Given the description of an element on the screen output the (x, y) to click on. 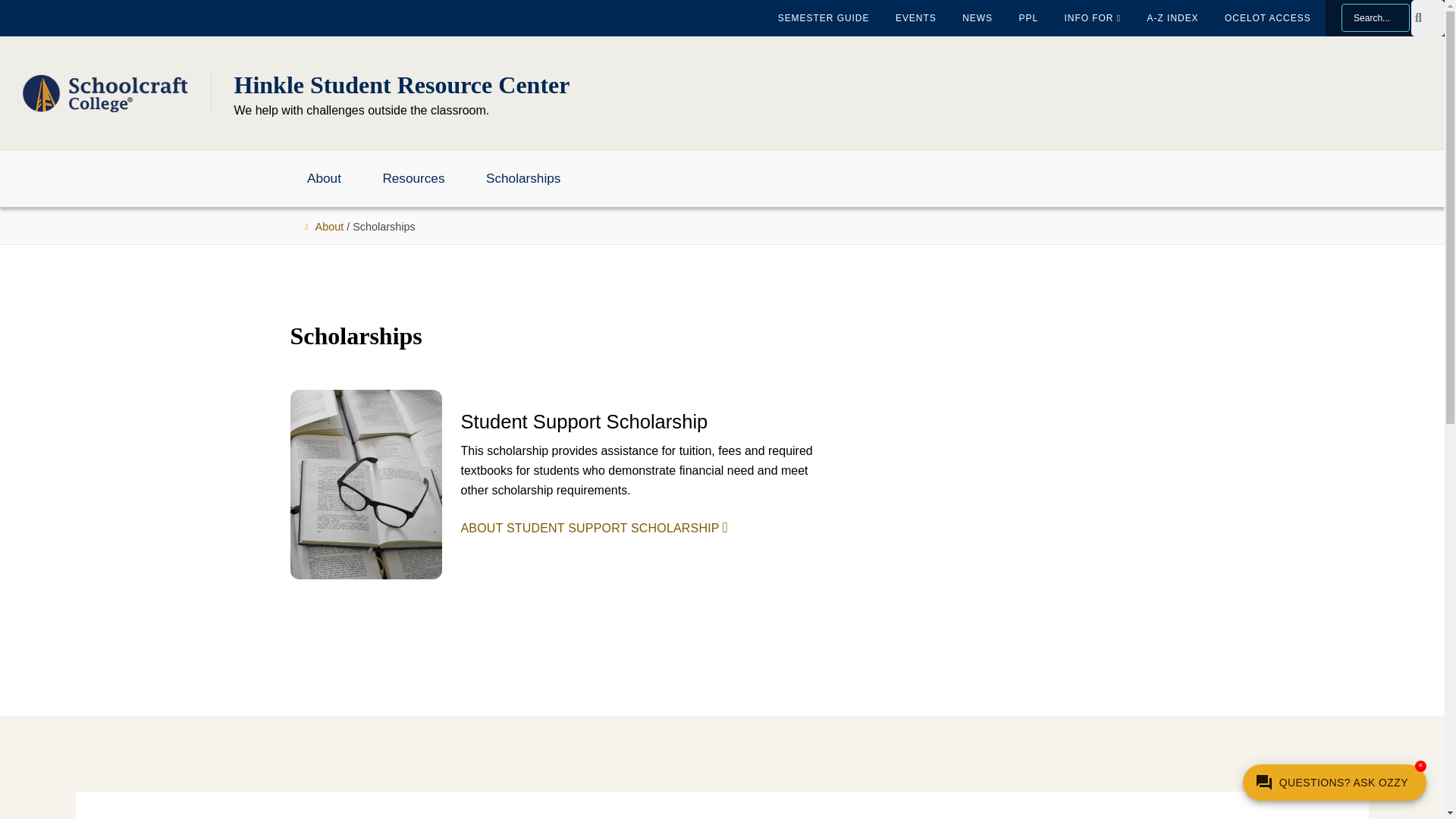
SEMESTER GUIDE (823, 18)
ABOUT STUDENT SUPPORT SCHOLARSHIP (594, 527)
OCELOT ACCESS (1267, 18)
QUESTIONS? ASK OZZY (1334, 782)
NEWS (977, 18)
PPL (1028, 18)
EVENTS (915, 18)
A-Z INDEX (1172, 18)
About (329, 224)
Scholarships (523, 178)
INFO FOR (1092, 18)
This opens the Personal and Professional Learning website (1028, 18)
About (323, 178)
Resources (413, 178)
